Given the description of an element on the screen output the (x, y) to click on. 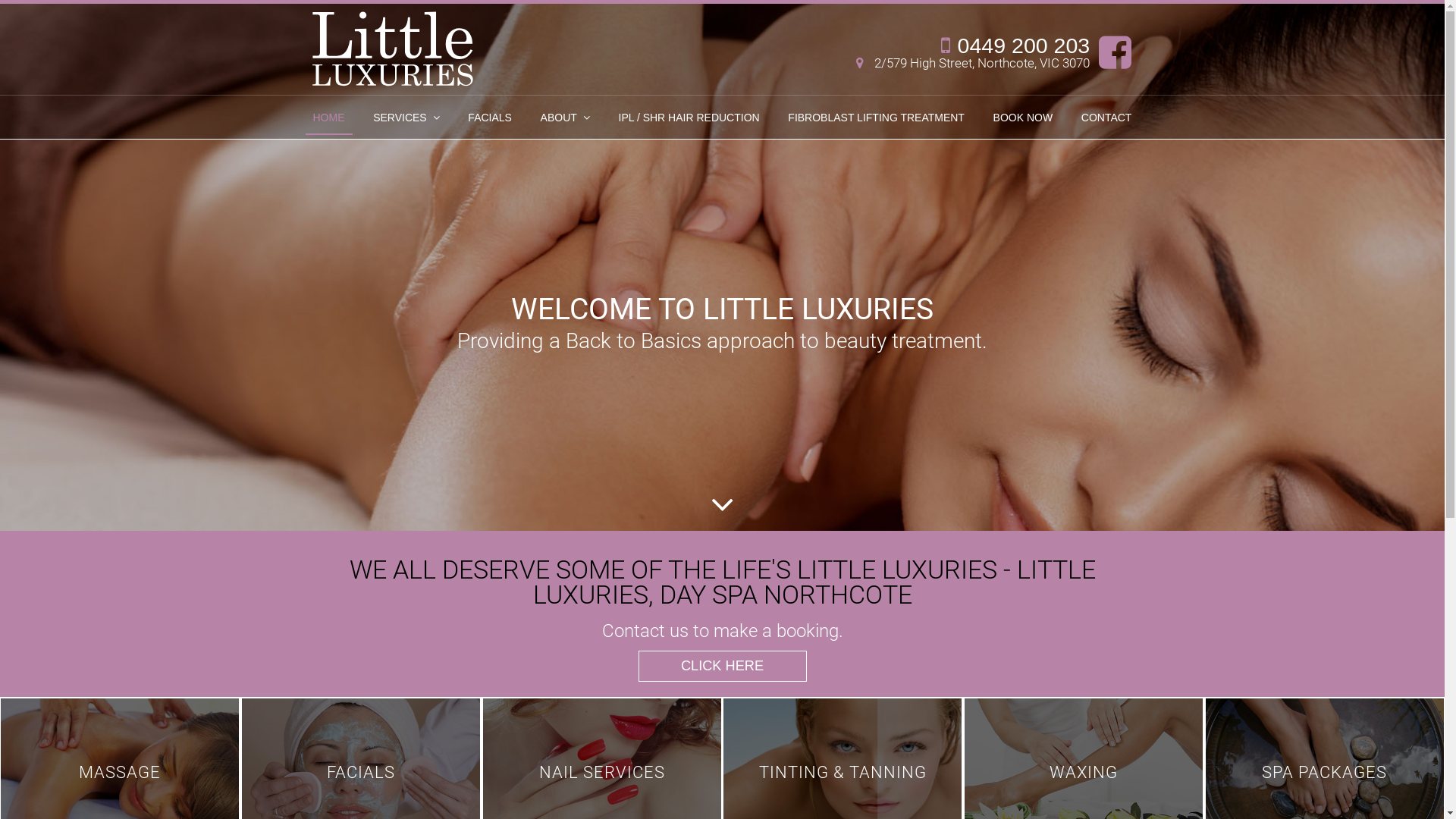
HOME Element type: text (327, 118)
IPL / SHR HAIR REDUCTION Element type: text (689, 118)
CONTACT Element type: text (1106, 118)
FACIALS Element type: text (489, 118)
FIBROBLAST LIFTING TREATMENT Element type: text (876, 118)
BOOK NOW Element type: text (1022, 118)
SERVICES Element type: text (406, 118)
ABOUT Element type: text (565, 118)
CLICK HERE Element type: text (722, 666)
